Given the description of an element on the screen output the (x, y) to click on. 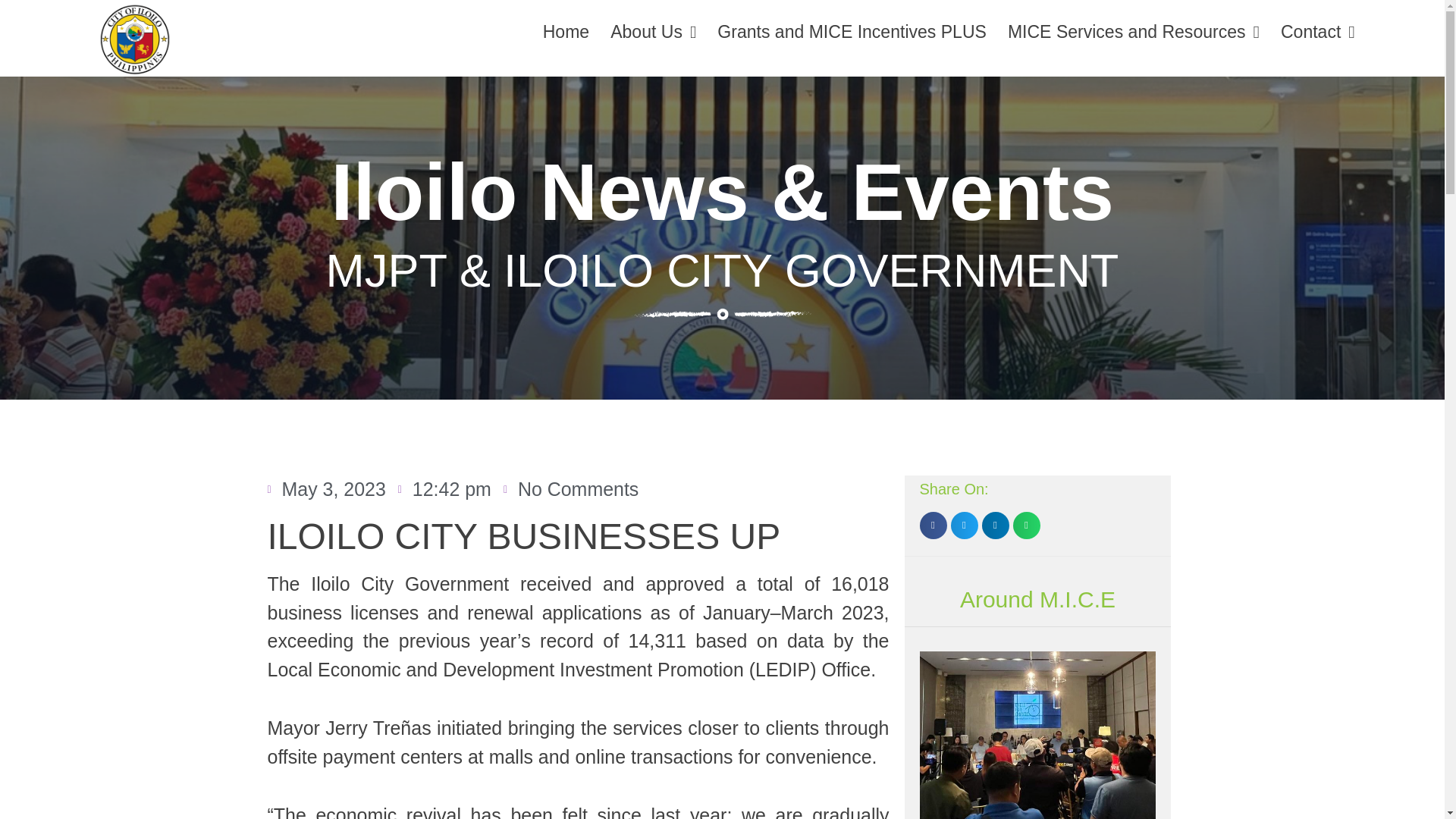
Grants and MICE Incentives PLUS (851, 31)
About Us (653, 31)
Contact (1317, 31)
Home (565, 31)
MICE Services and Resources (1134, 31)
